Given the description of an element on the screen output the (x, y) to click on. 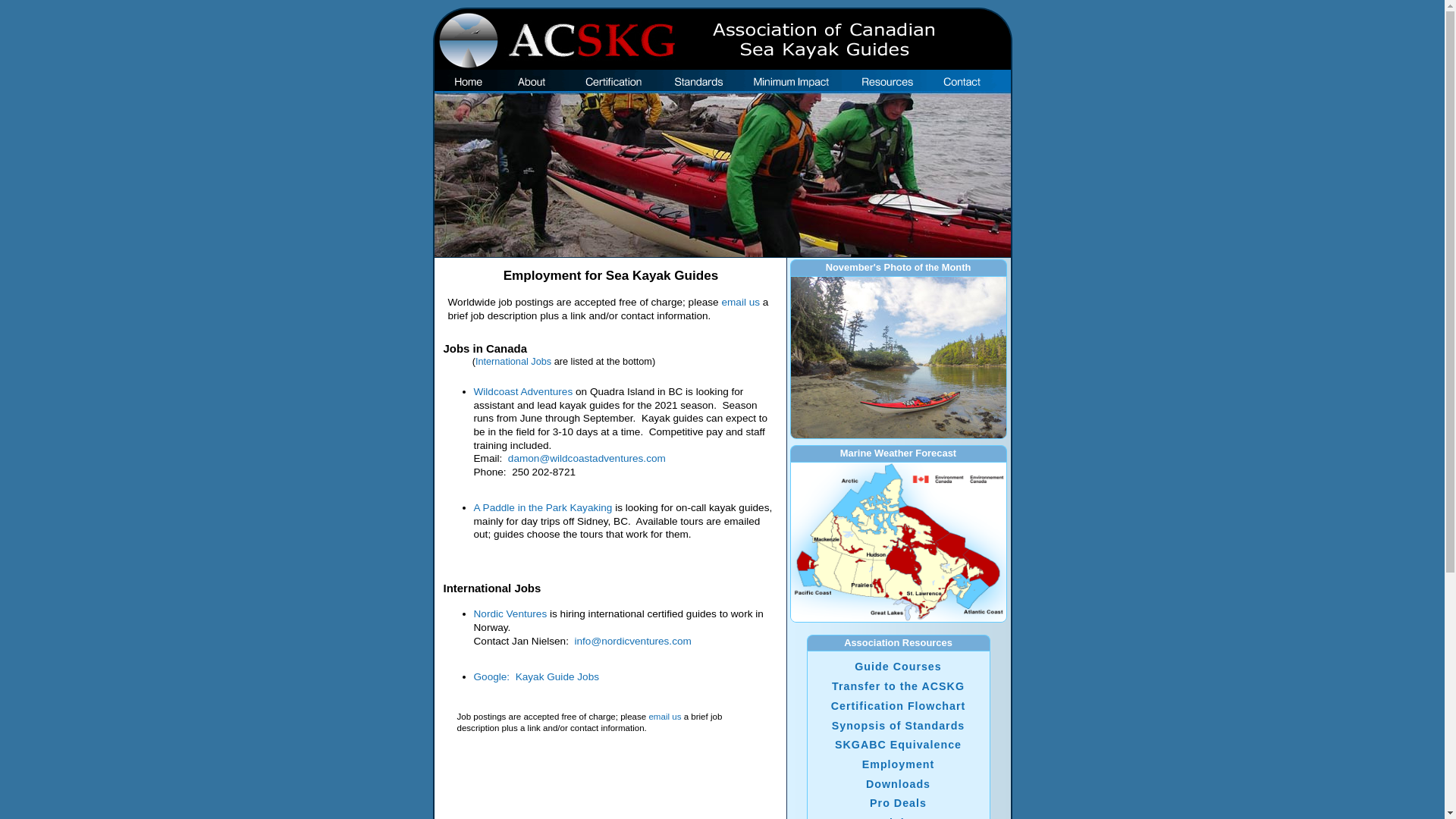
View Environment Canada's website Element type: hover (897, 541)
Transfer to the ACSKG Element type: text (897, 686)
Guide Courses Element type: text (897, 666)
Synopsis of Standards Element type: text (898, 724)
email us Element type: text (664, 716)
Employment Element type: text (898, 764)
Downloads Element type: text (898, 784)
SKGABC Equivalence Element type: text (897, 744)
A Paddle in the Park Kayaking Element type: text (542, 507)
International Jobs Element type: text (513, 361)
damon@wildcoastadventures.com Element type: text (586, 458)
email us Element type: text (740, 301)
Nordic Ventures Element type: text (509, 613)
Google:  Kayak Guide Jobs Element type: text (536, 676)
info@nordicventures.com Element type: text (632, 640)
Wildcoast Adventures Element type: text (522, 391)
Pro Deals Element type: text (897, 803)
View the ACSKG's photo of the month Element type: hover (897, 357)
Certification Flowchart Element type: text (898, 705)
